Given the description of an element on the screen output the (x, y) to click on. 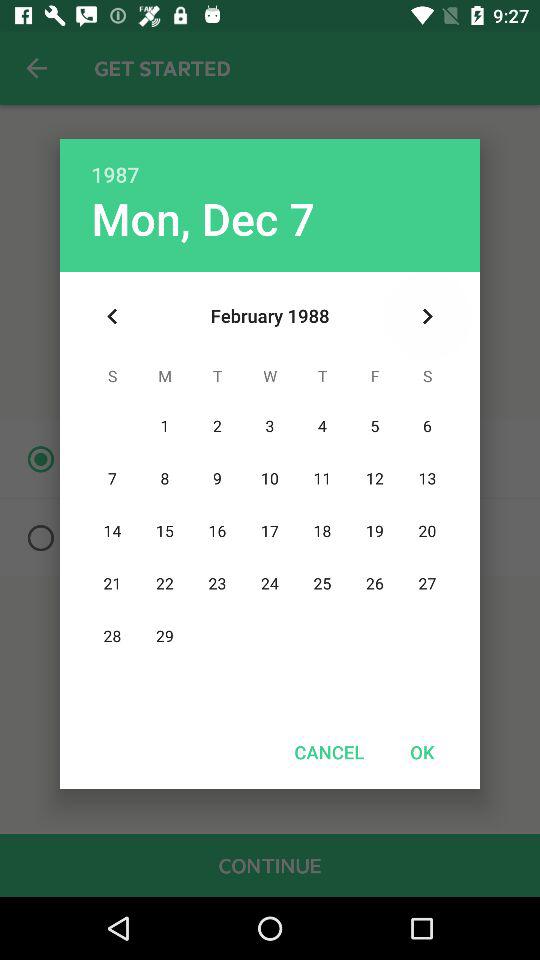
click icon to the right of cancel icon (422, 751)
